Given the description of an element on the screen output the (x, y) to click on. 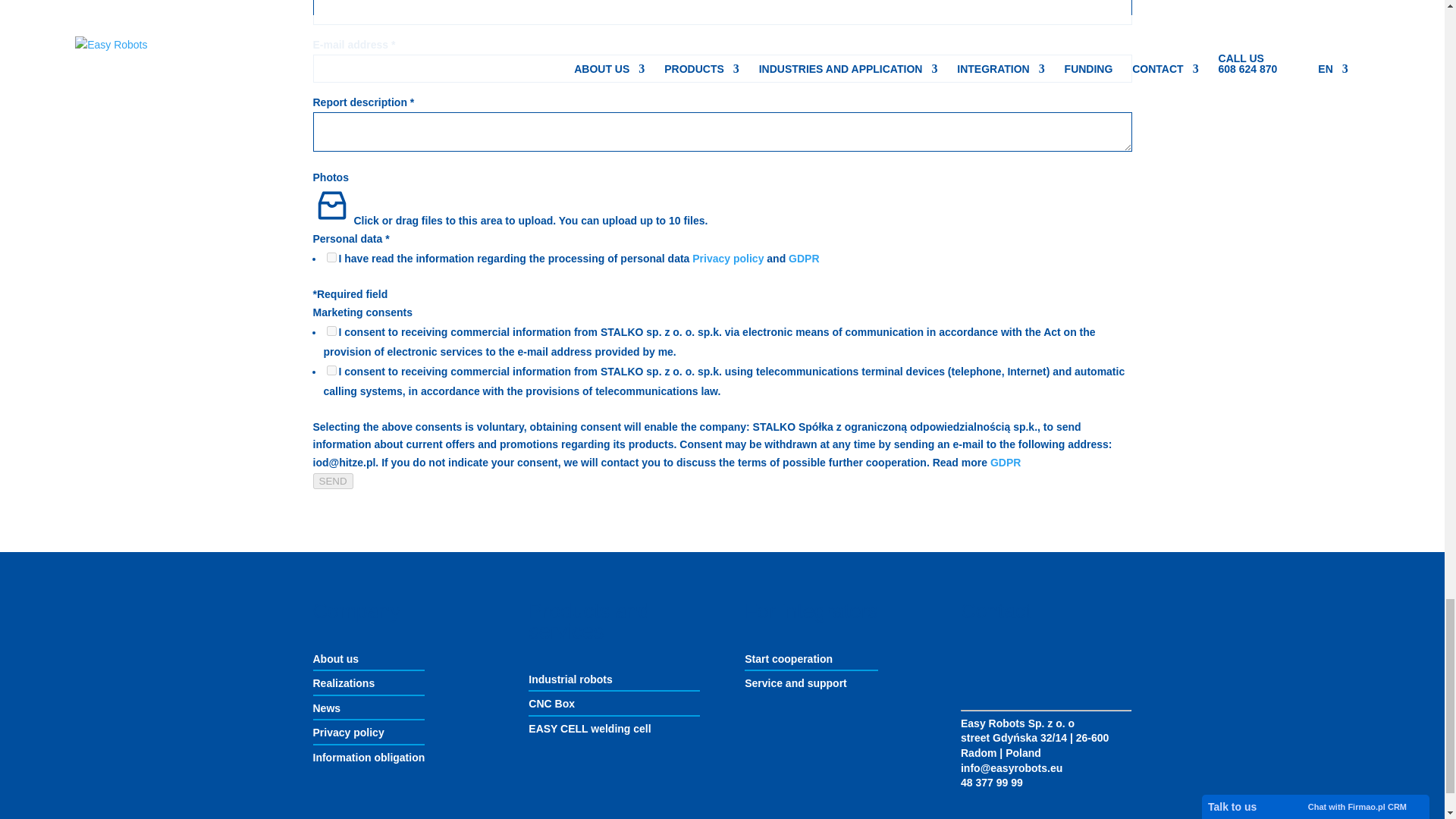
Privacy policy (730, 258)
GDPR (803, 258)
SEND (332, 480)
GDPR (1005, 462)
2 (331, 370)
1 (331, 330)
1 (331, 257)
